Given the description of an element on the screen output the (x, y) to click on. 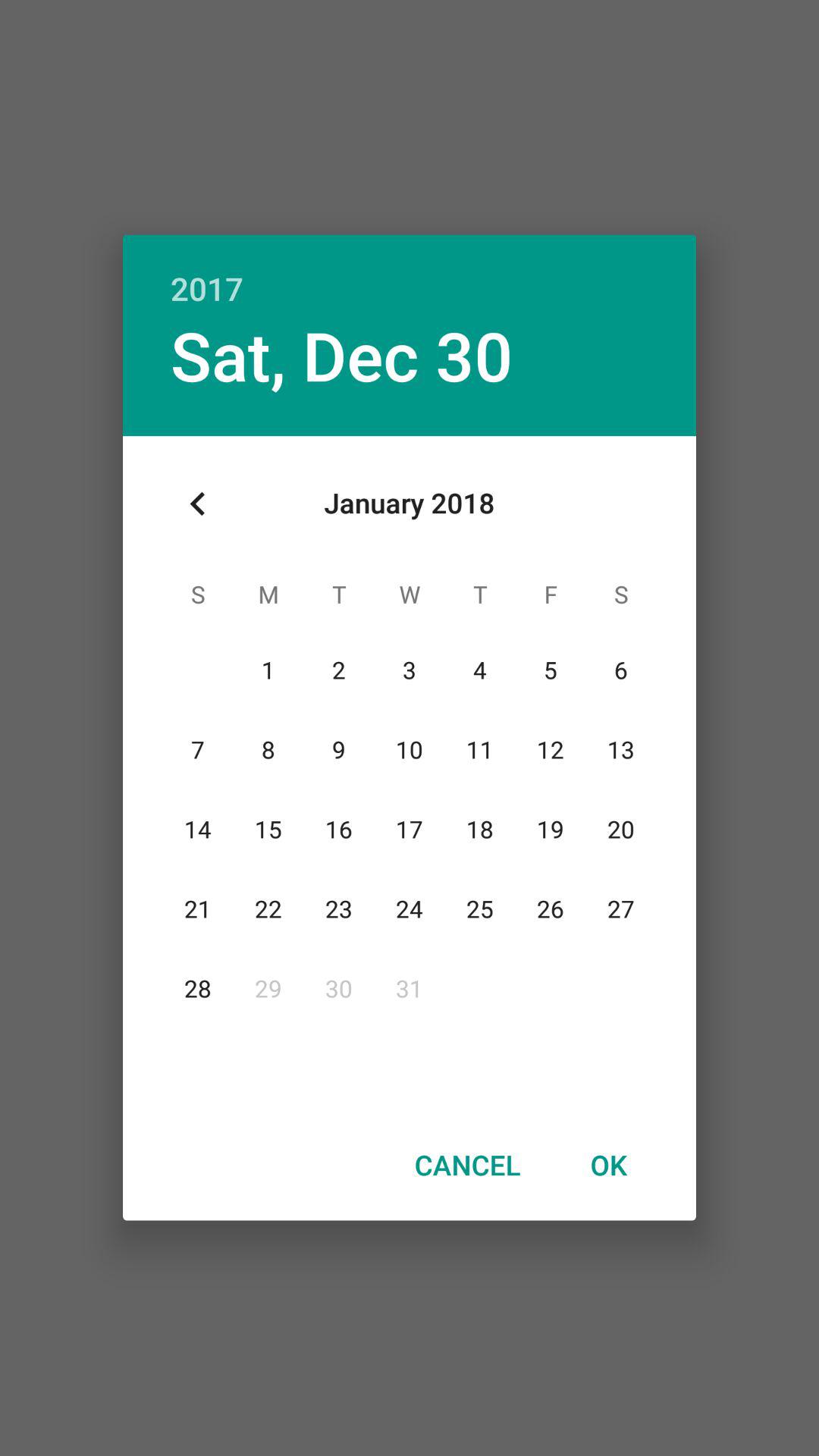
choose item above sat, dec 30 icon (409, 271)
